Given the description of an element on the screen output the (x, y) to click on. 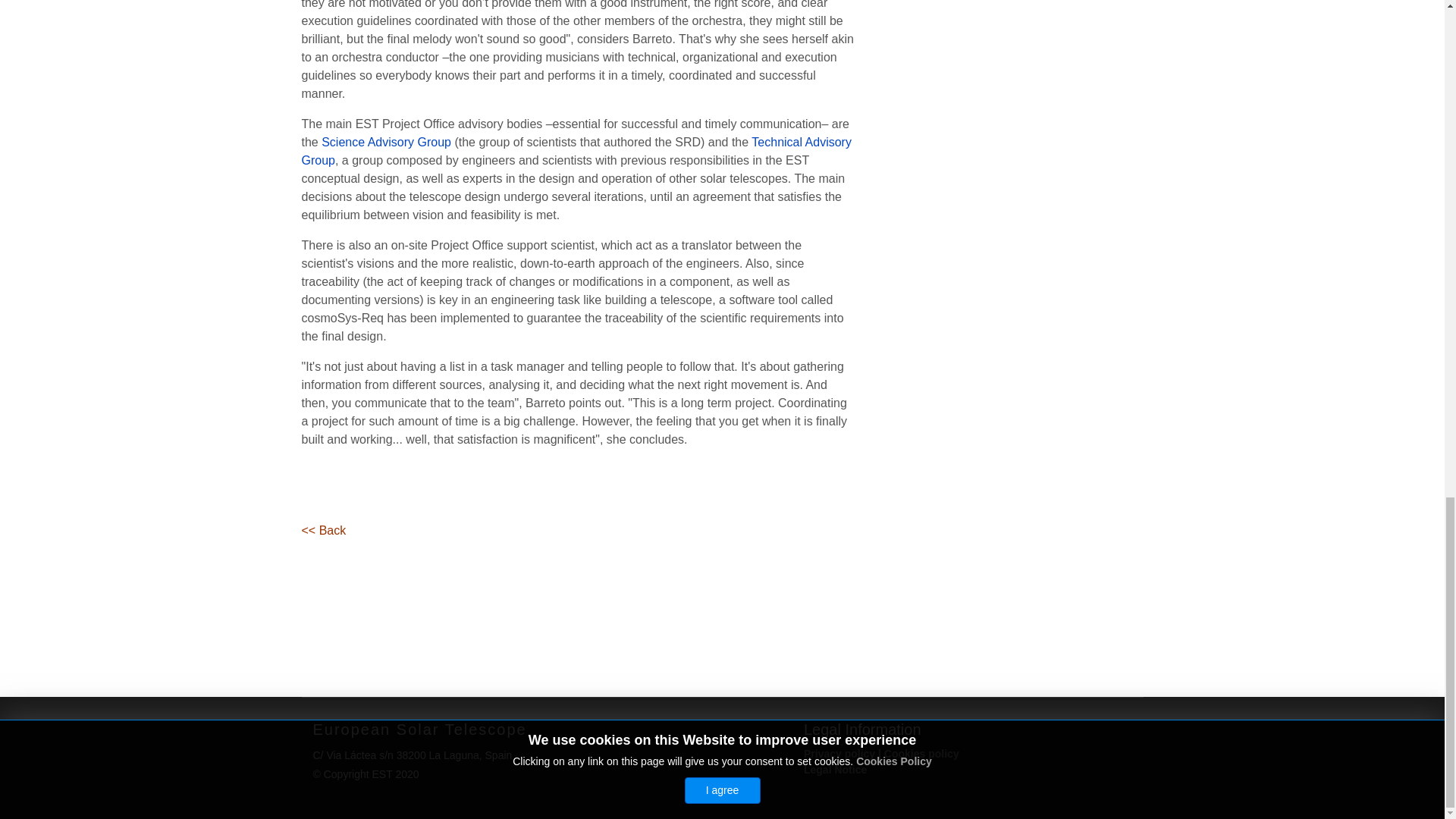
Science Advisory Group (386, 141)
Technical Advisory Group (576, 151)
